Given the description of an element on the screen output the (x, y) to click on. 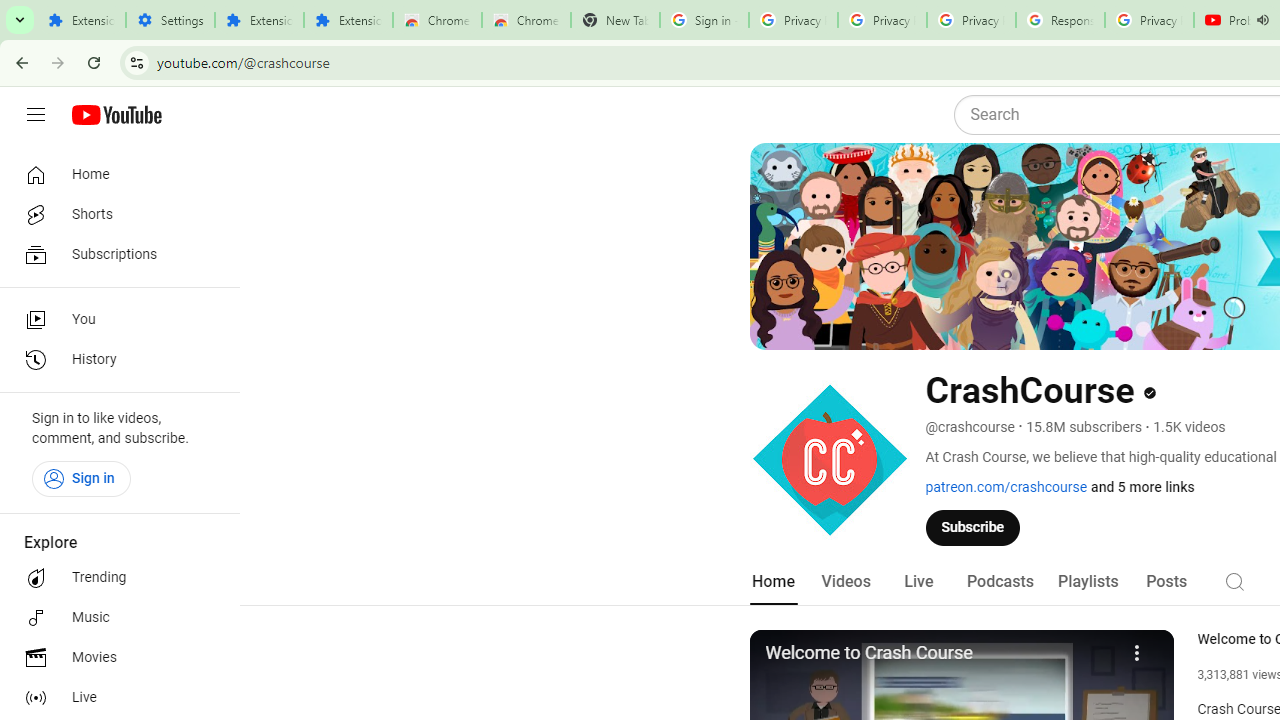
Guide (35, 115)
Live (918, 581)
Chrome Web Store (437, 20)
Extensions (81, 20)
New Tab (615, 20)
Subscriptions (113, 254)
Extensions (259, 20)
Sign in - Google Accounts (704, 20)
Shorts (113, 214)
Playlists (1088, 581)
